Given the description of an element on the screen output the (x, y) to click on. 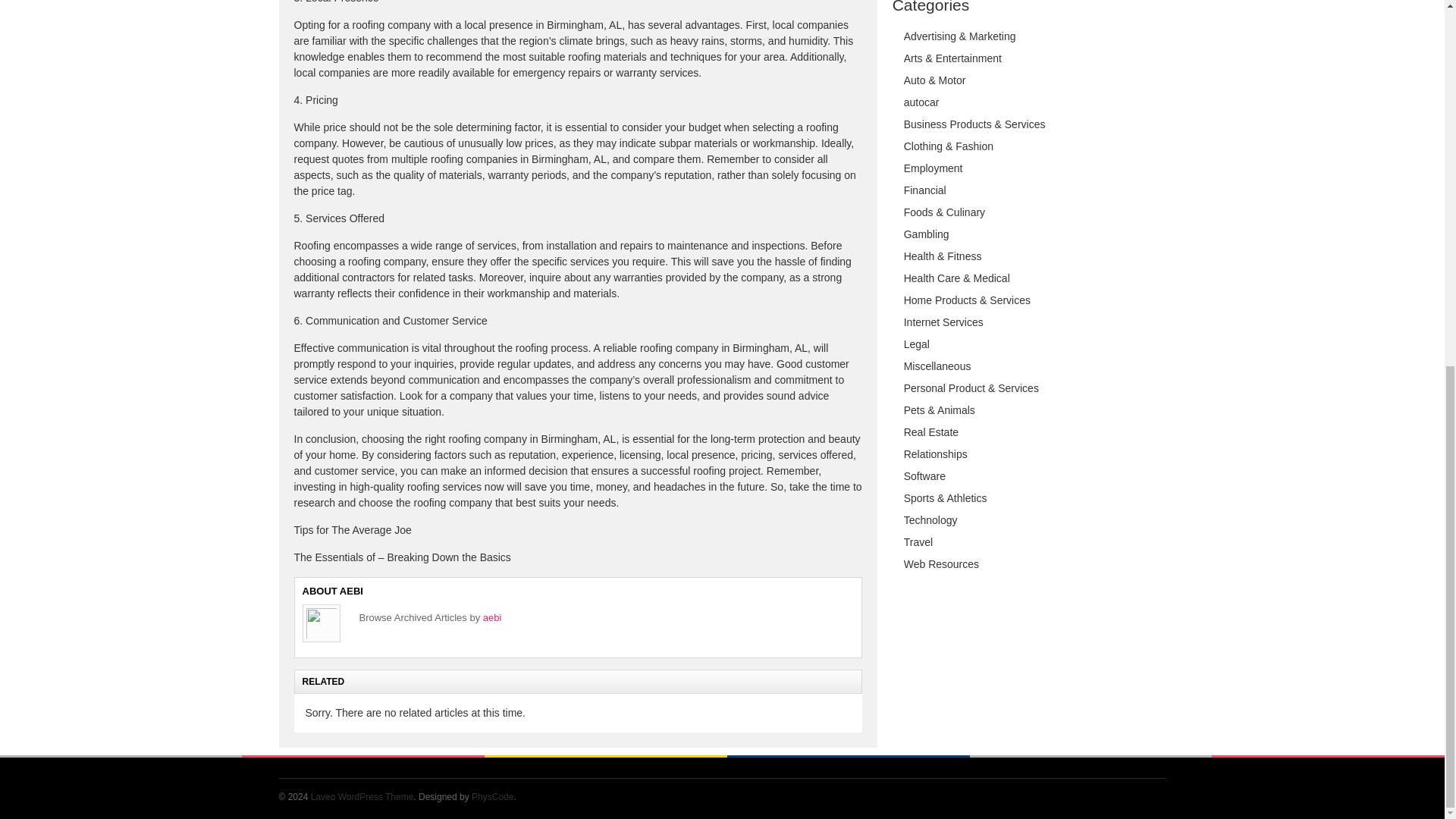
Internet Services (944, 322)
Tips for The Average Joe (353, 530)
Financial (925, 190)
Gambling (926, 234)
Legal (917, 344)
autocar (921, 102)
Employment (933, 168)
aebi (492, 617)
